Given the description of an element on the screen output the (x, y) to click on. 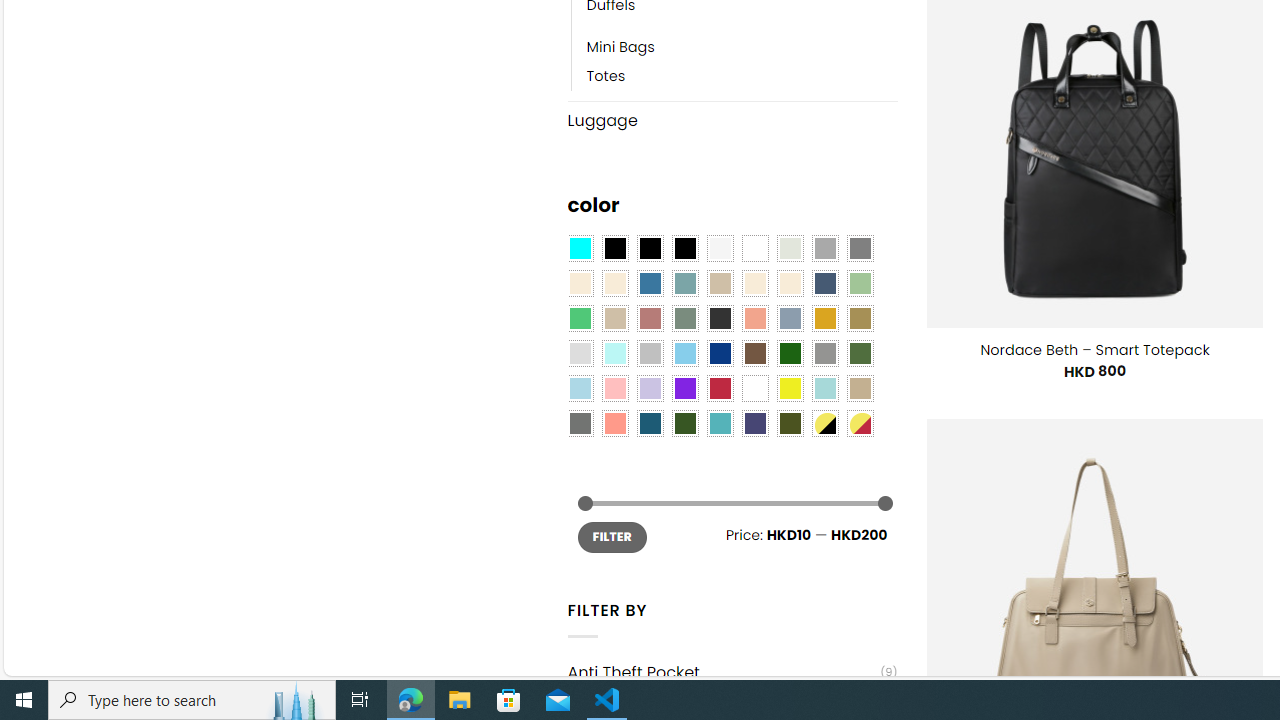
Capri Blue (650, 424)
Dusty Blue (789, 318)
Navy Blue (719, 354)
Rose (650, 318)
